Given the description of an element on the screen output the (x, y) to click on. 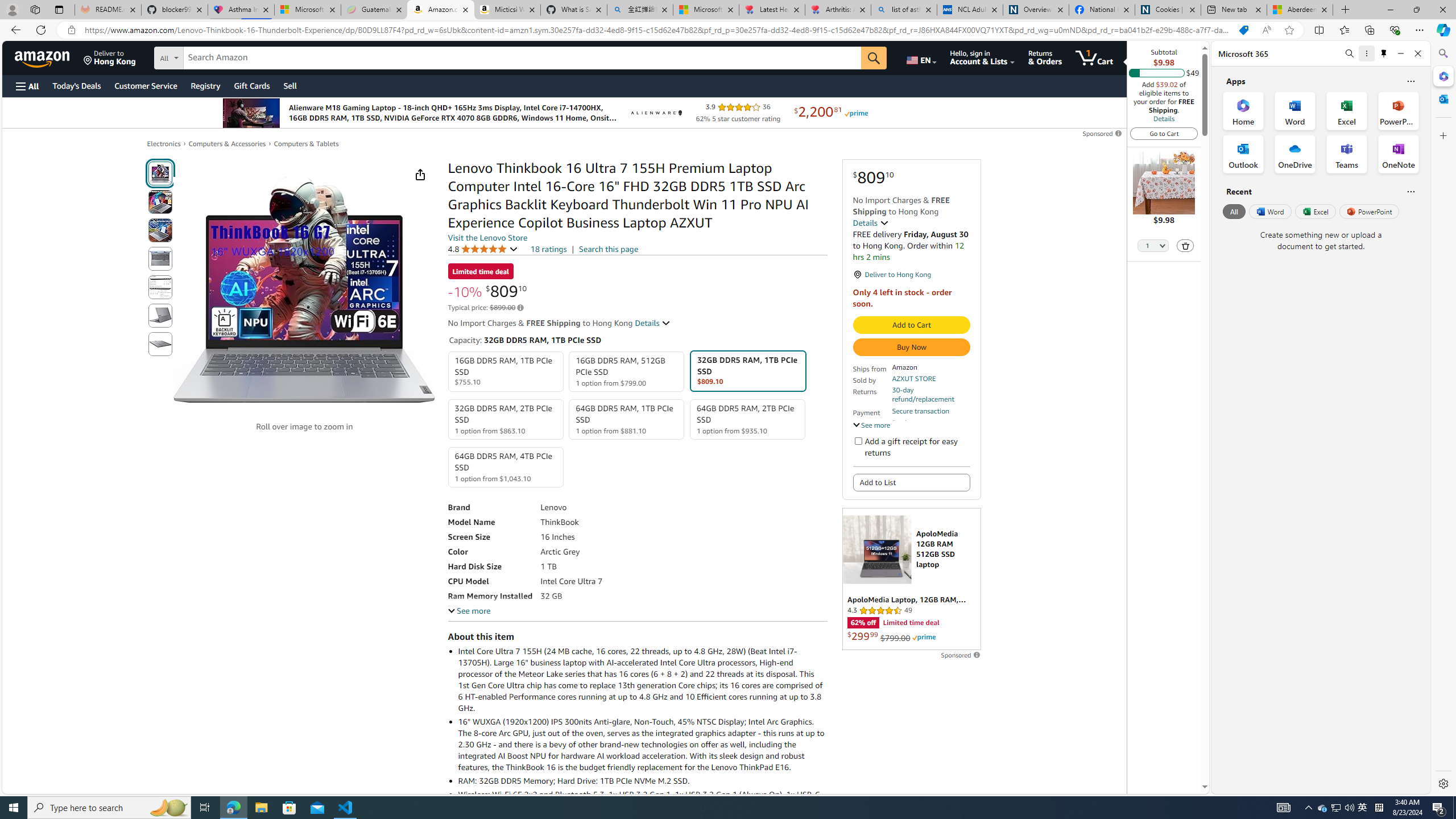
Details  (652, 322)
You have the best price! (1243, 29)
Product support included (930, 427)
Microsoft-Report a Concern to Bing (307, 9)
16GB DDR5 RAM, 512GB PCIe SSD 1 option from $799.00 (626, 371)
Is this helpful? (1410, 191)
64GB DDR5 RAM, 2TB PCIe SSD 1 option from $935.10 (747, 418)
Add to Cart (911, 324)
